Given the description of an element on the screen output the (x, y) to click on. 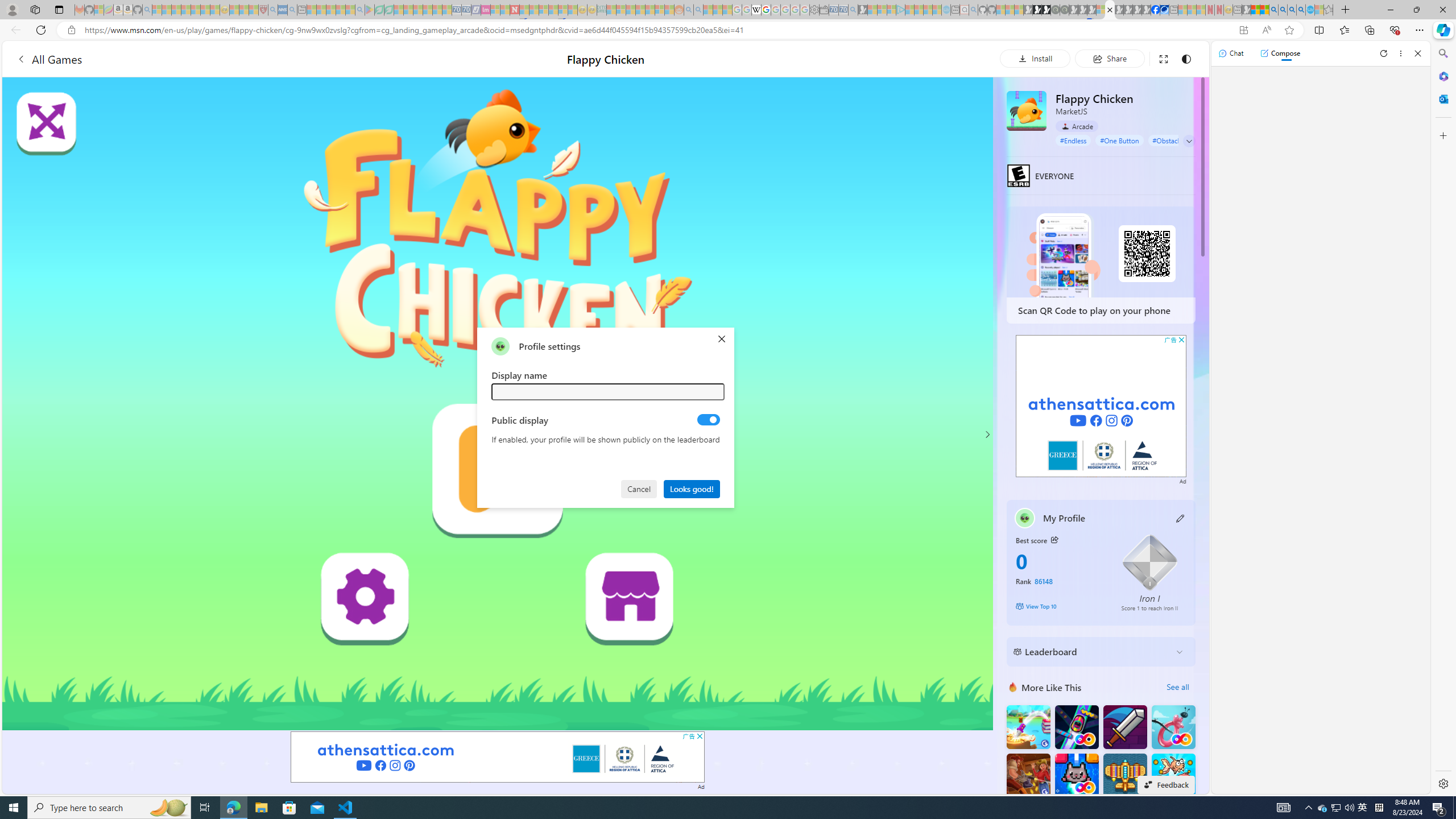
EVERYONE (1018, 175)
Bumper Car FRVR (1076, 726)
More Like This (1012, 686)
Sign in to your account - Sleeping (1100, 9)
Class: text-input (608, 391)
Pets - MSN - Sleeping (340, 9)
See all (1177, 687)
Nordace | Facebook (1154, 9)
